Given the description of an element on the screen output the (x, y) to click on. 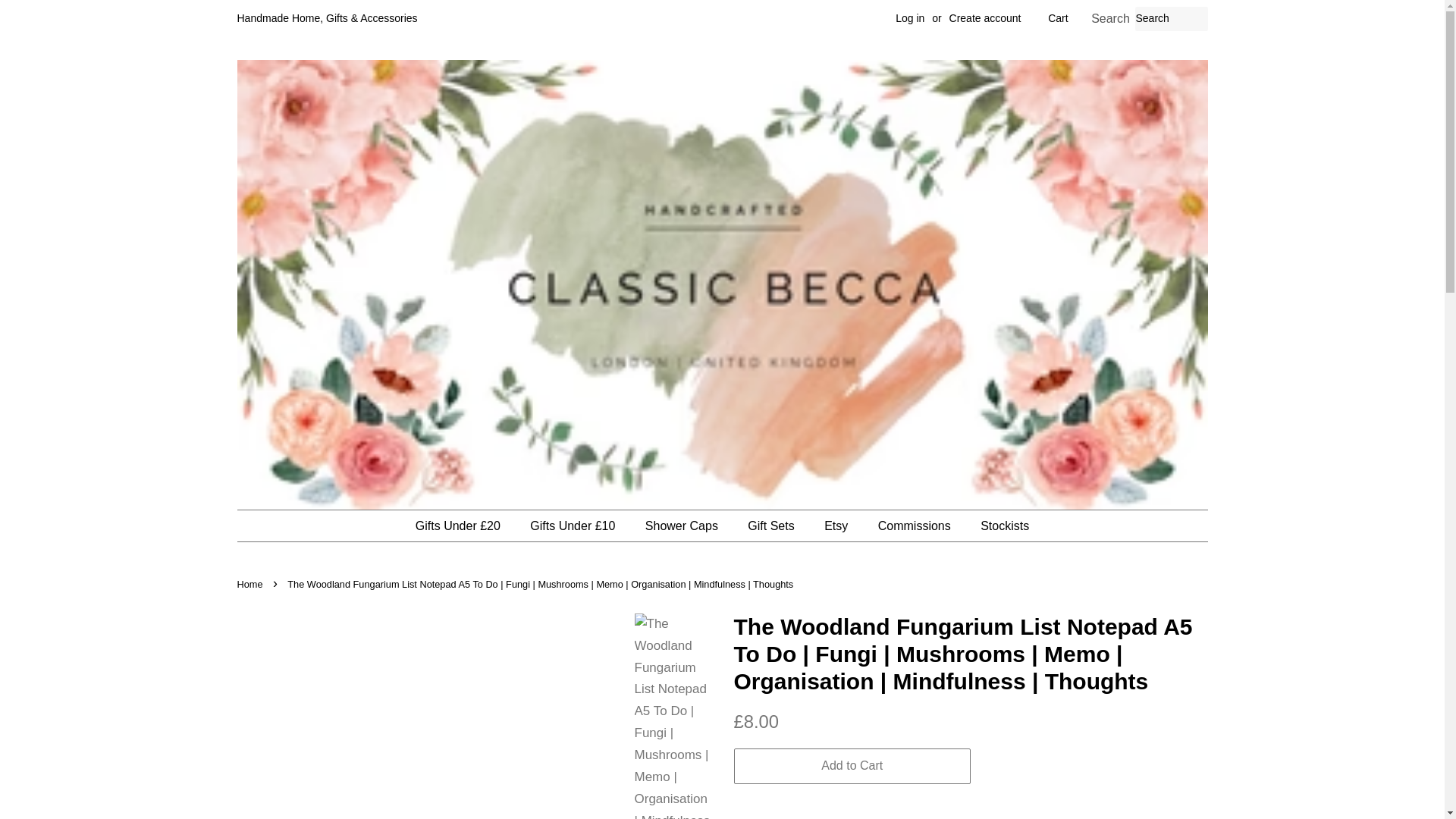
Home (250, 583)
Add to Cart (852, 765)
Search (1110, 18)
Commissions (916, 525)
Back to the frontpage (250, 583)
Stockists (999, 525)
Shower Caps (683, 525)
Create account (985, 18)
Cart (1057, 18)
Gift Sets (772, 525)
